Given the description of an element on the screen output the (x, y) to click on. 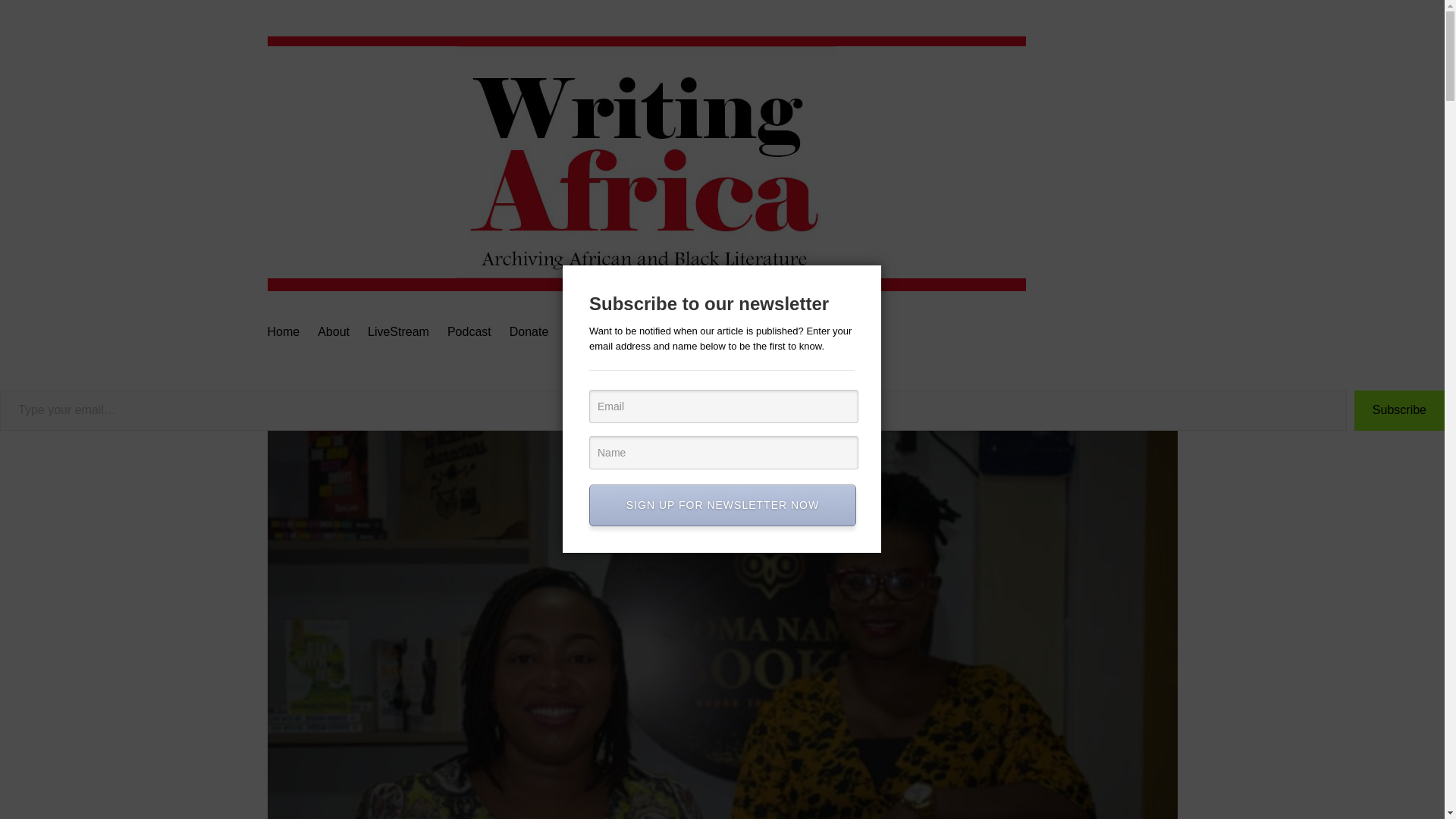
Podcast (469, 332)
Contact (587, 332)
Donate (528, 332)
LiveStream (398, 332)
Email (724, 406)
About (333, 332)
Name (724, 452)
Home (282, 332)
Please fill in this field. (673, 410)
